Given the description of an element on the screen output the (x, y) to click on. 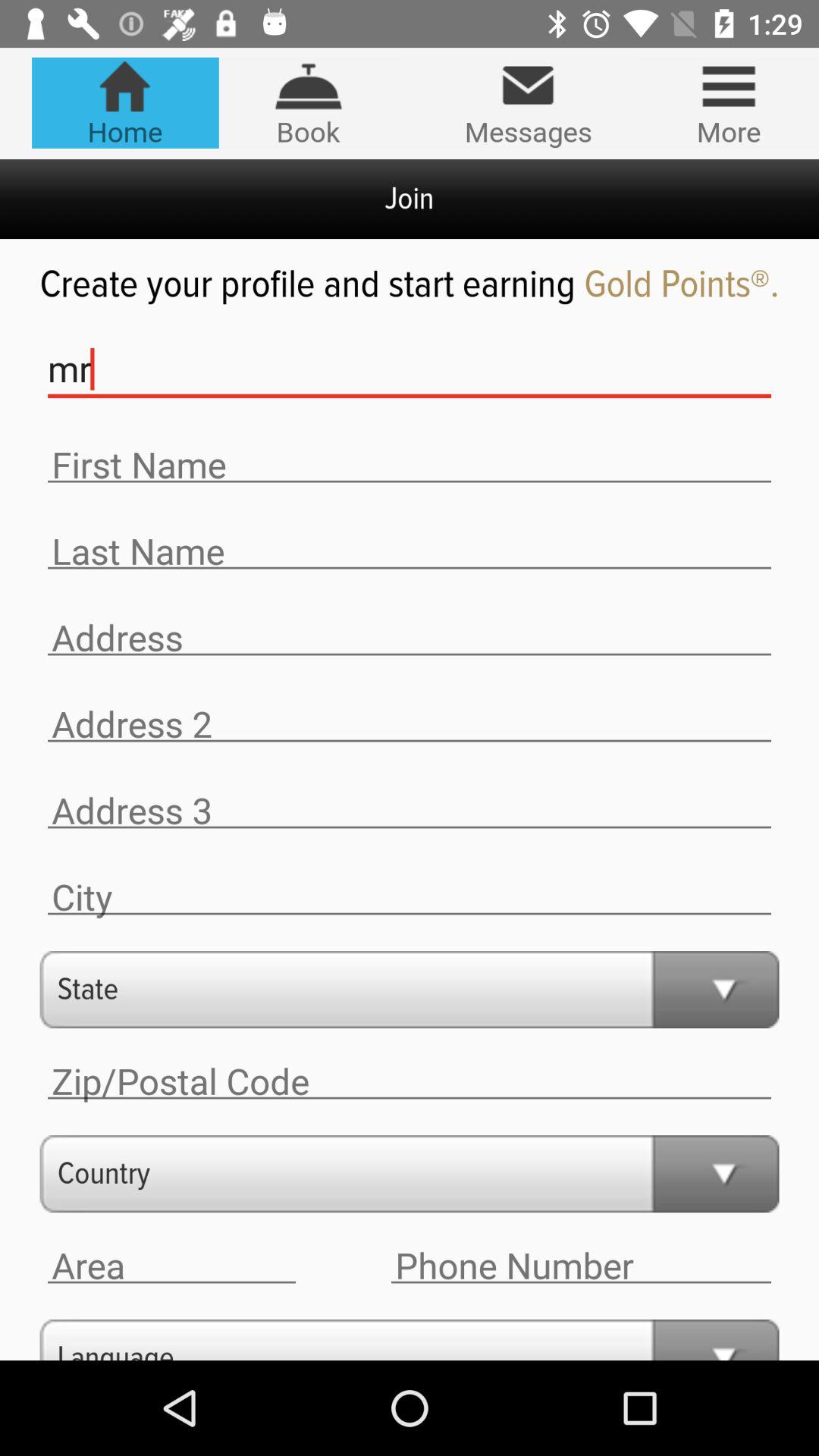
address (409, 724)
